Given the description of an element on the screen output the (x, y) to click on. 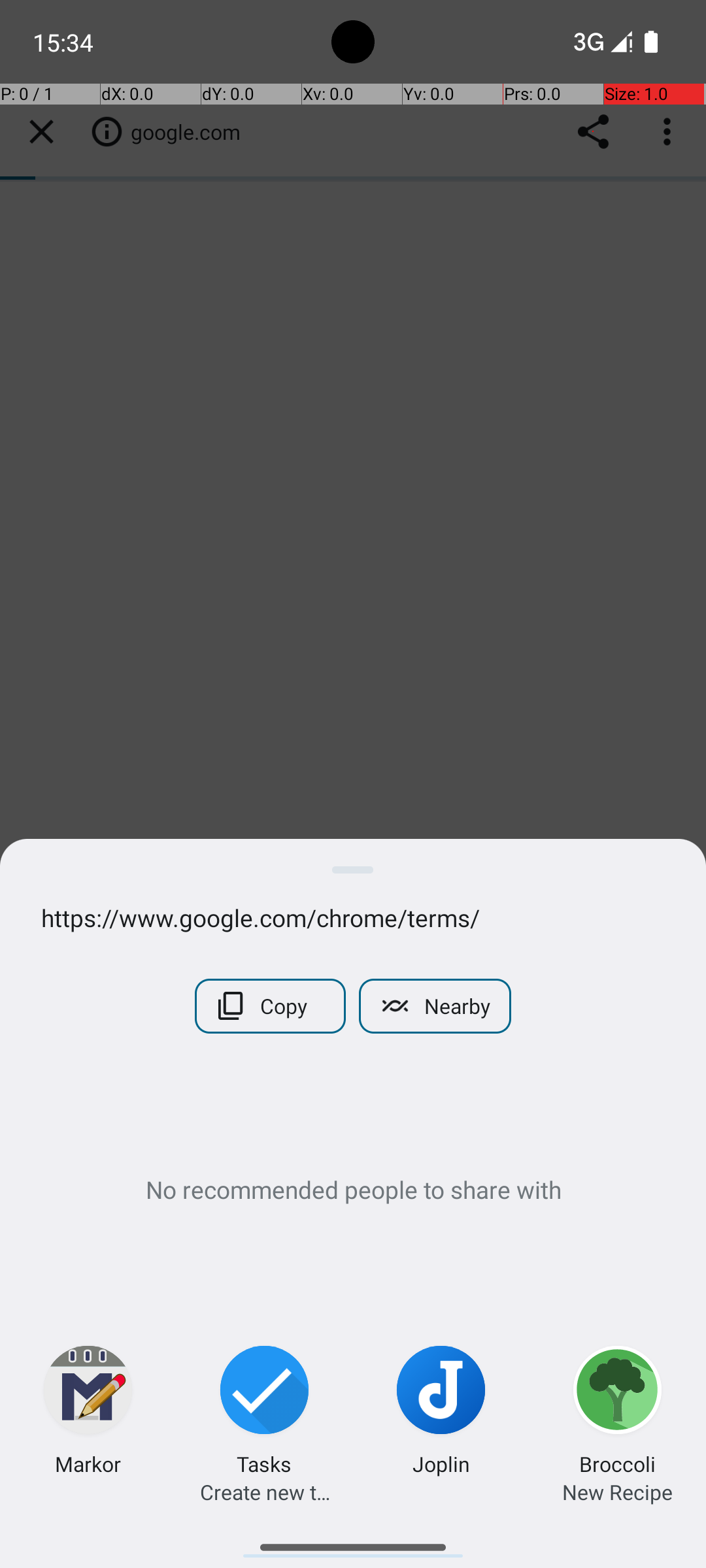
Apps list Element type: android.widget.ImageView (353, 1541)
https://www.google.com/chrome/terms/ Element type: android.widget.TextView (352, 917)
Copy Element type: android.widget.Button (269, 1005)
Nearby Element type: android.widget.Button (434, 1005)
No recommended people to share with Element type: android.widget.TextView (353, 1189)
Markor Element type: android.widget.TextView (87, 1463)
Tasks Element type: android.widget.TextView (264, 1463)
Create new task Element type: android.widget.TextView (264, 1491)
Joplin Element type: android.widget.TextView (441, 1463)
Broccoli Element type: android.widget.TextView (617, 1463)
New Recipe Element type: android.widget.TextView (617, 1491)
